Given the description of an element on the screen output the (x, y) to click on. 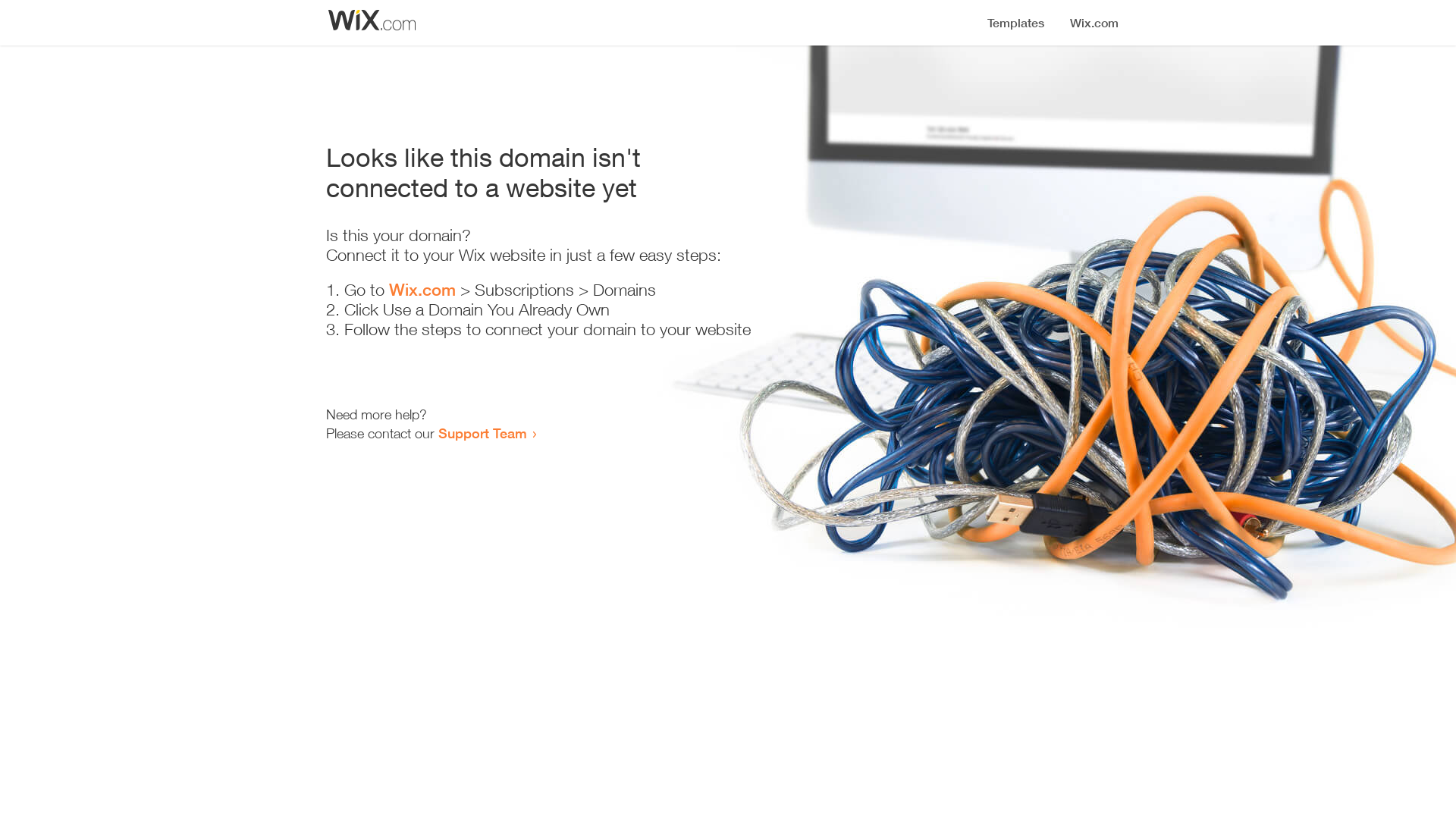
Wix.com Element type: text (422, 289)
Support Team Element type: text (482, 432)
